Given the description of an element on the screen output the (x, y) to click on. 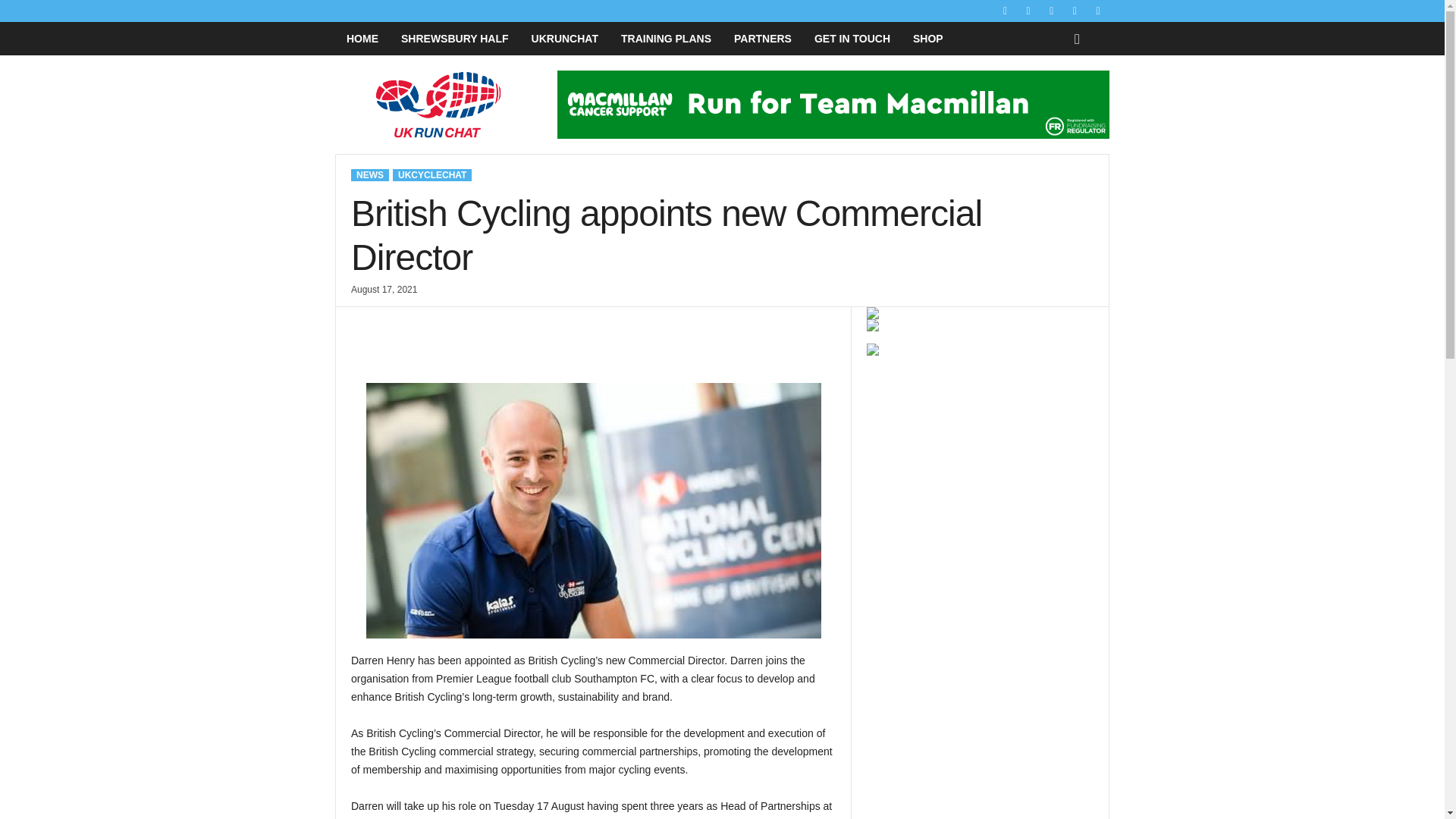
SHREWSBURY HALF (454, 38)
HOME (362, 38)
Youtube (1097, 11)
Linkedin (1051, 11)
Facebook (1004, 11)
UKRUNCHAT (564, 38)
Twitter (1074, 11)
topFacebookLike (390, 322)
Instagram (1027, 11)
